Given the description of an element on the screen output the (x, y) to click on. 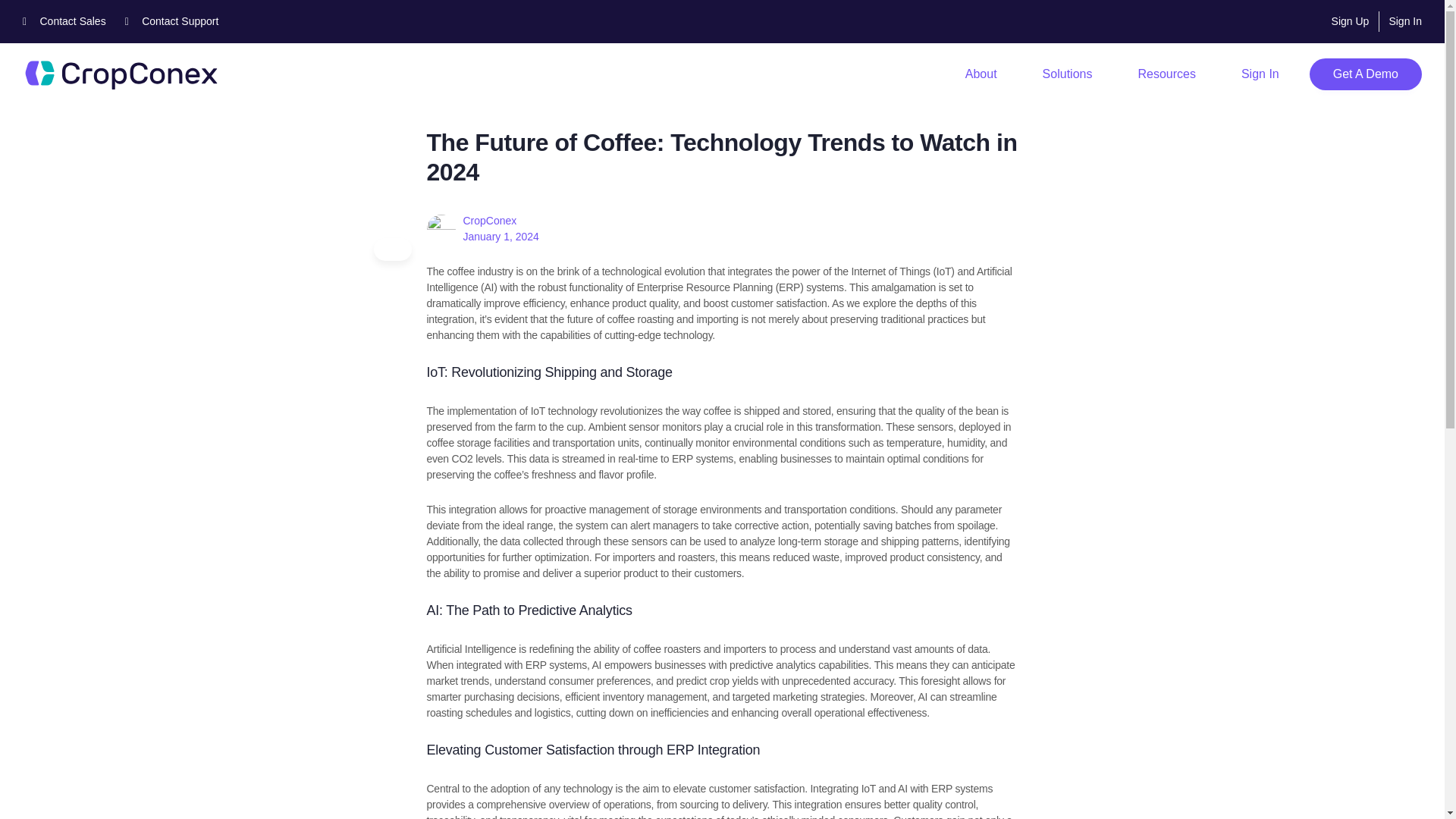
Sign Up (1351, 21)
About (981, 73)
January 1, 2024 (500, 236)
Contact Sales (64, 21)
Solutions (1067, 73)
Sign In (1259, 73)
Resources (1166, 73)
CropConex (489, 220)
Get A Demo (1365, 74)
Contact Support (172, 21)
